Given the description of an element on the screen output the (x, y) to click on. 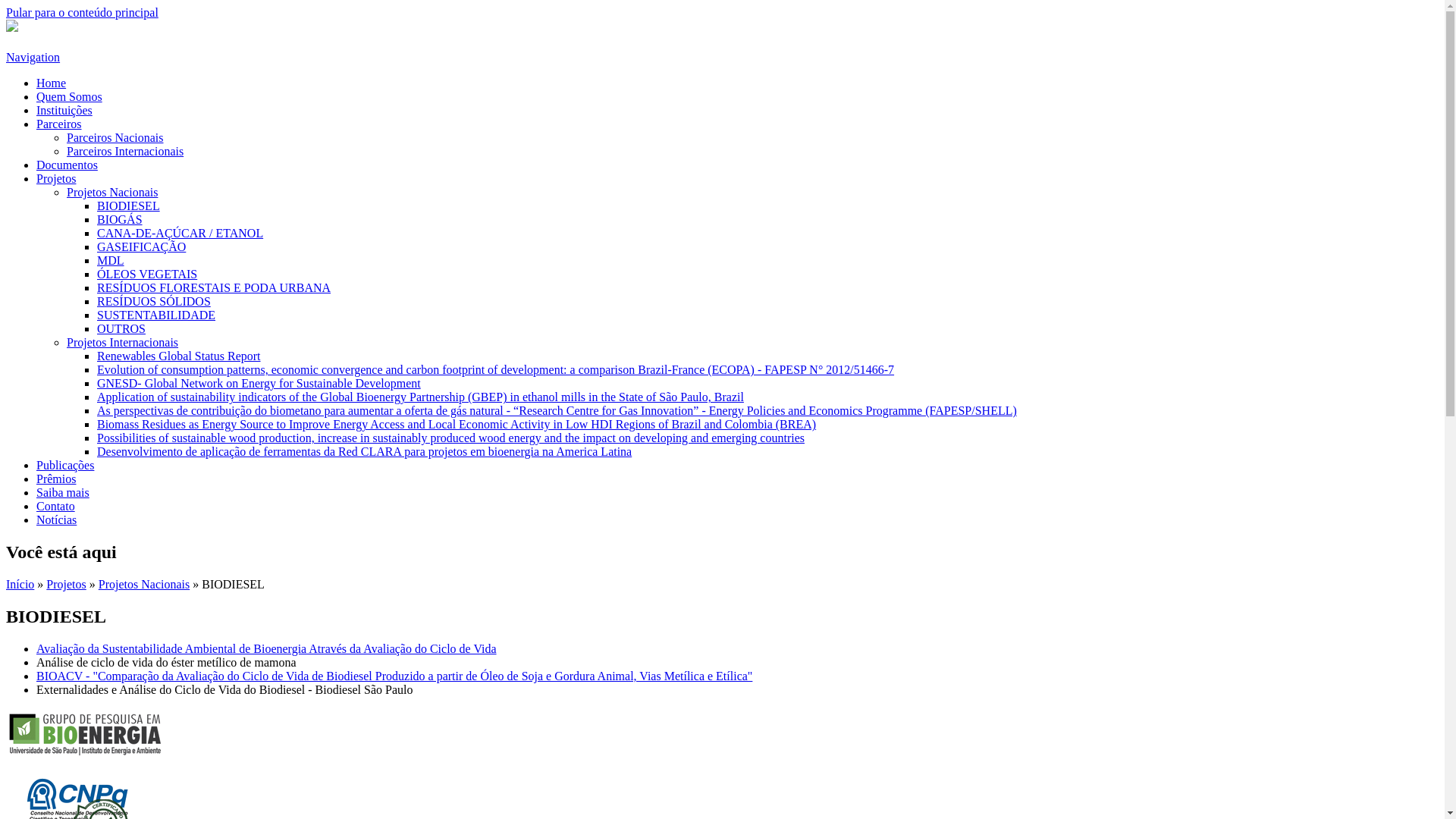
Parceiros Internacionais Element type: text (124, 150)
Projetos Nacionais Element type: text (111, 191)
OUTROS Element type: text (121, 328)
GNESD- Global Network on Energy for Sustainable Development Element type: text (258, 382)
Projetos Internacionais Element type: text (122, 341)
SUSTENTABILIDADE Element type: text (156, 314)
Documentos Element type: text (66, 164)
Saiba mais Element type: text (62, 492)
Parceiros Nacionais Element type: text (114, 137)
Parceiros Element type: text (58, 123)
Projetos Nacionais Element type: text (143, 583)
Contato Element type: text (55, 505)
BIODIESEL Element type: text (128, 205)
Projetos Element type: text (55, 178)
Navigation Element type: text (32, 56)
Renewables Global Status Report Element type: text (178, 355)
Projetos Element type: text (65, 583)
MDL Element type: text (110, 260)
Quem Somos Element type: text (69, 96)
Home Element type: text (50, 82)
